Given the description of an element on the screen output the (x, y) to click on. 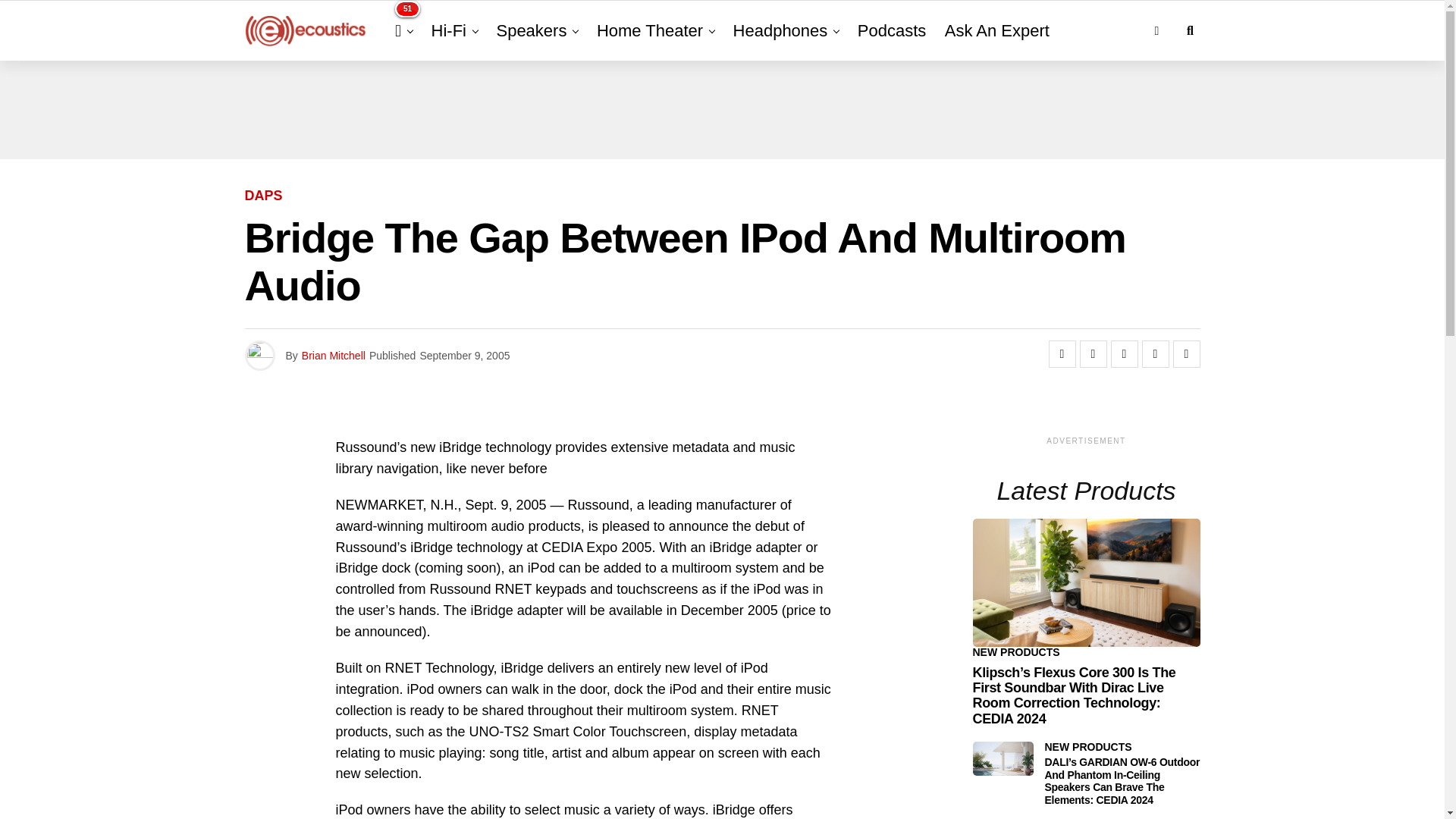
Tweet This Post (1093, 353)
Share on Facebook (1061, 353)
3rd party ad content (721, 110)
Posts by Brian Mitchell (333, 355)
